Given the description of an element on the screen output the (x, y) to click on. 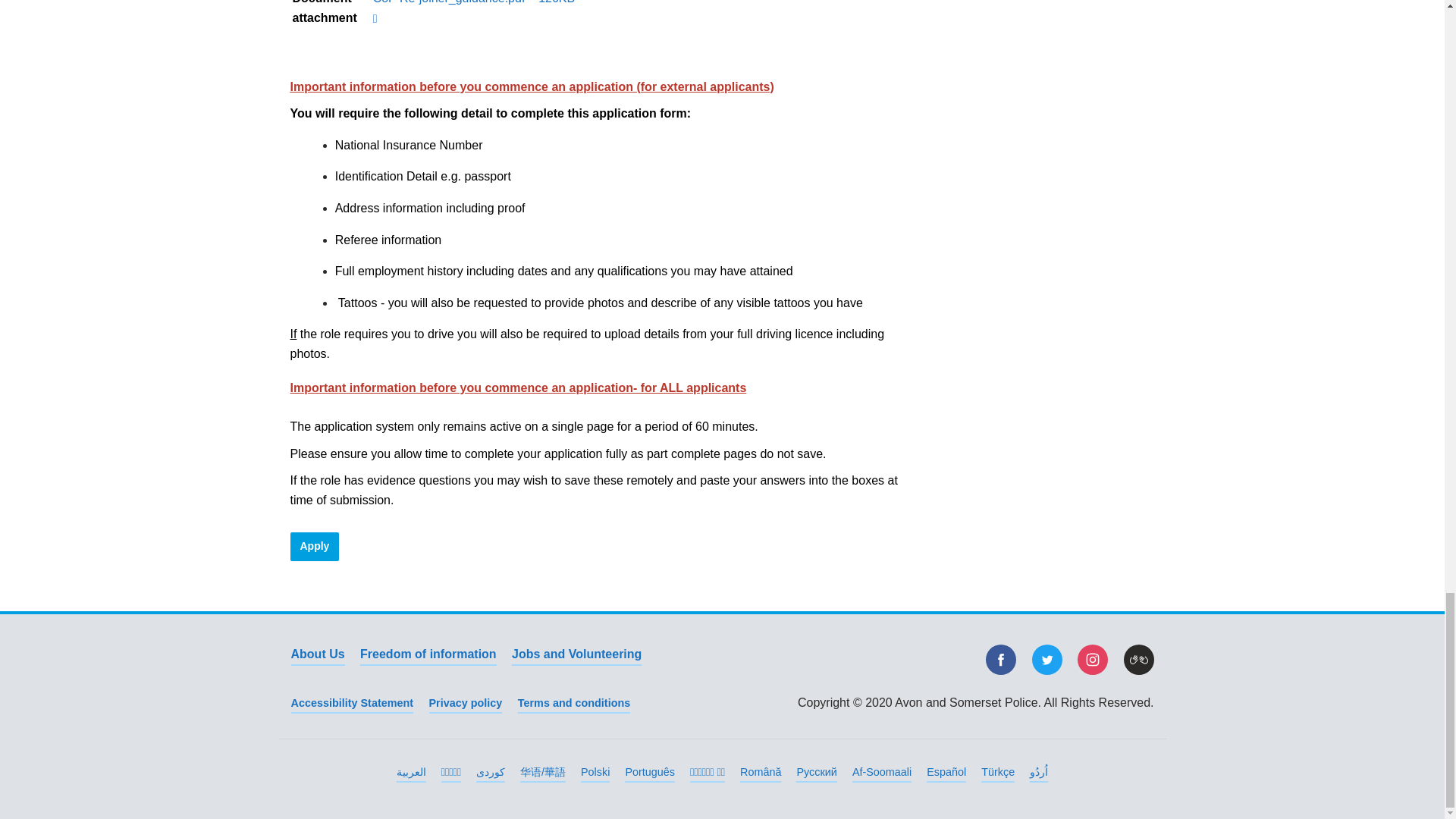
Polski (595, 772)
Af-Soomaali (881, 772)
Apply (314, 546)
Apply (314, 546)
